Given the description of an element on the screen output the (x, y) to click on. 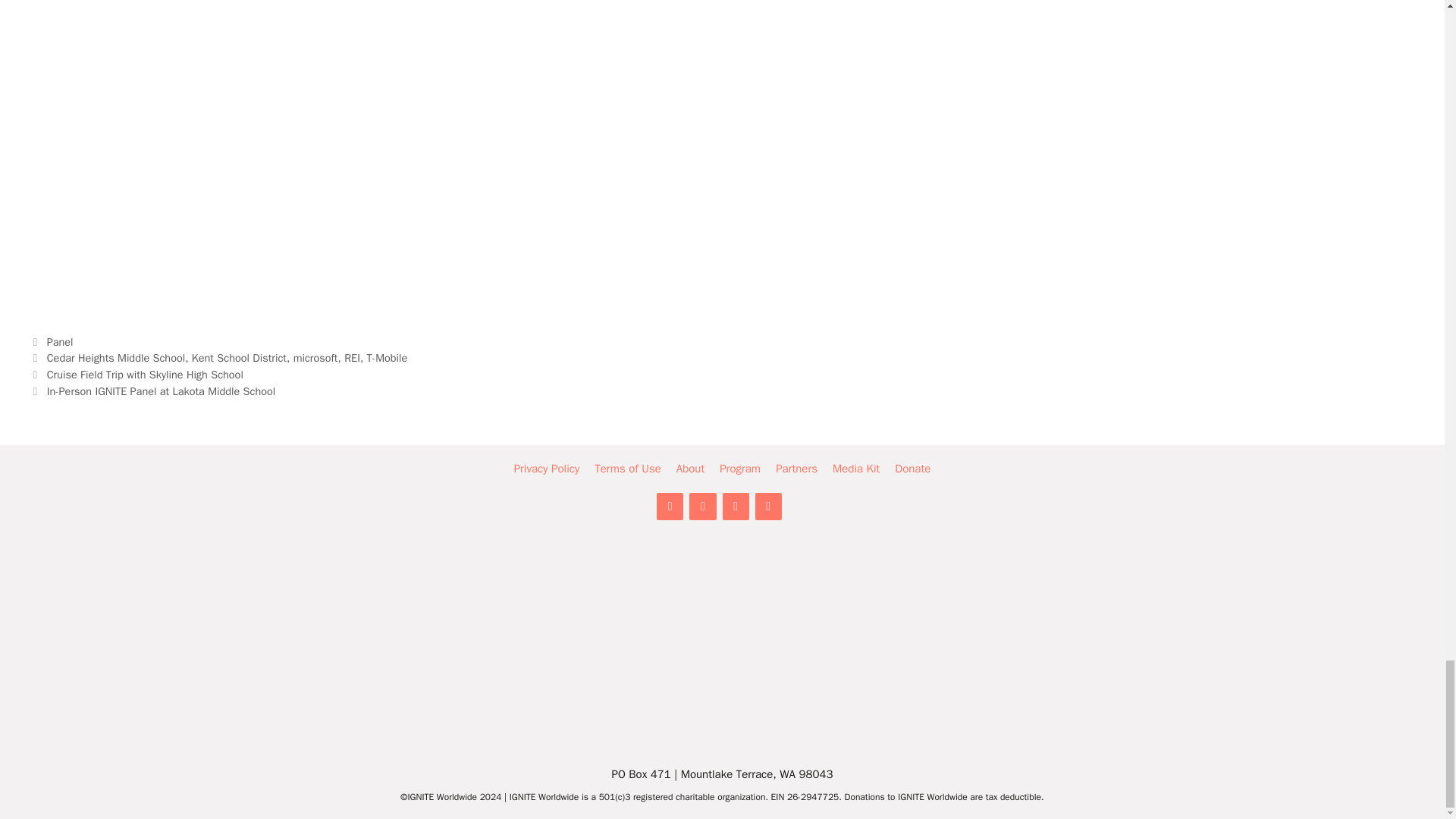
YouTube (768, 506)
Instagram (735, 506)
Facebook (702, 506)
LinkedIn (669, 506)
